Given the description of an element on the screen output the (x, y) to click on. 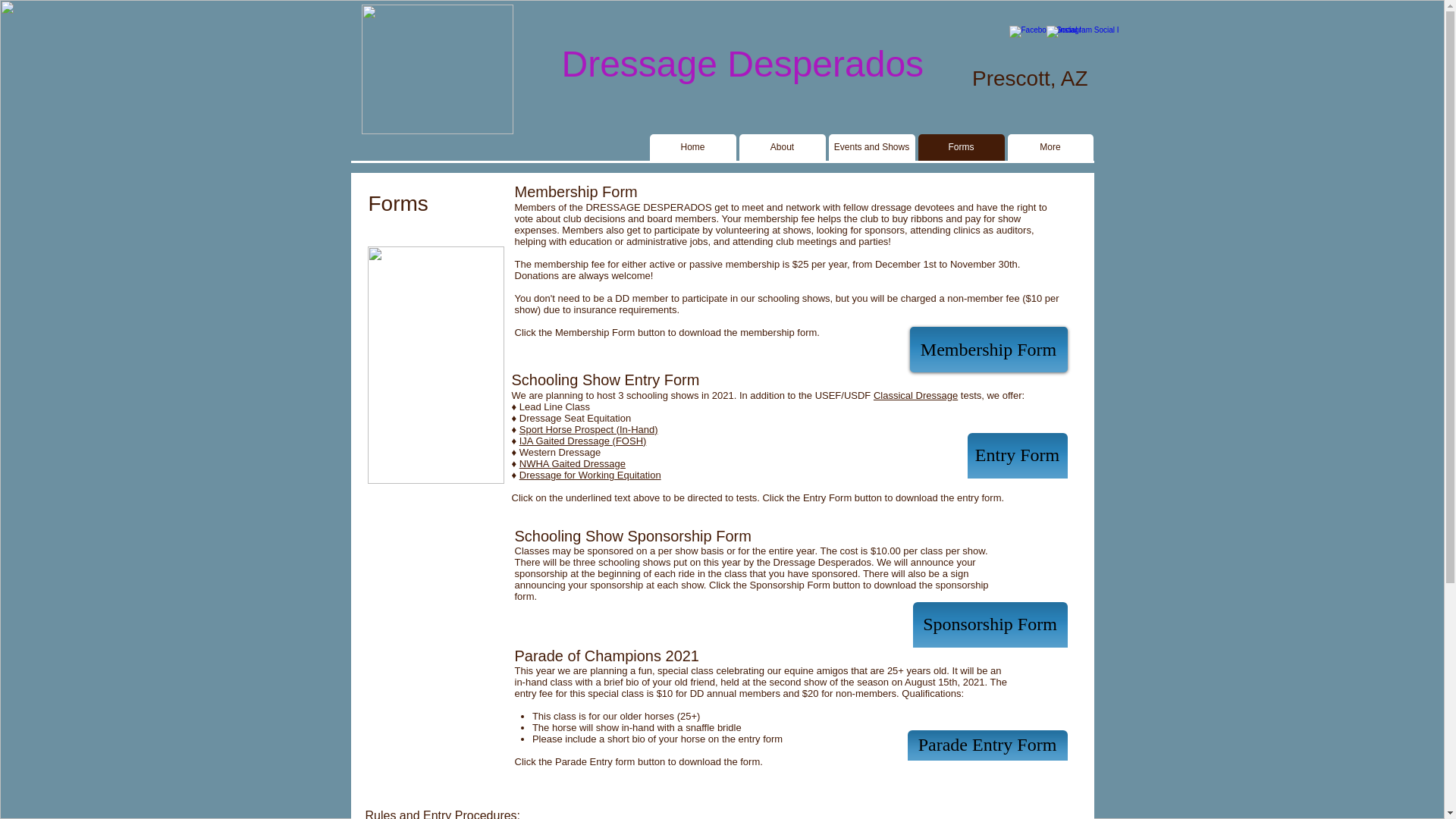
Parade Entry Form (987, 745)
DDlogo.jpg (436, 69)
About (781, 147)
Events and Shows (871, 147)
Sponsorship Form (989, 624)
Entry Form (1017, 455)
Forms (960, 147)
Membership Form (988, 349)
Dressage for Working Equitation (590, 474)
Gaited Dressage (588, 463)
Home (692, 147)
Classical Dressage (915, 395)
